Given the description of an element on the screen output the (x, y) to click on. 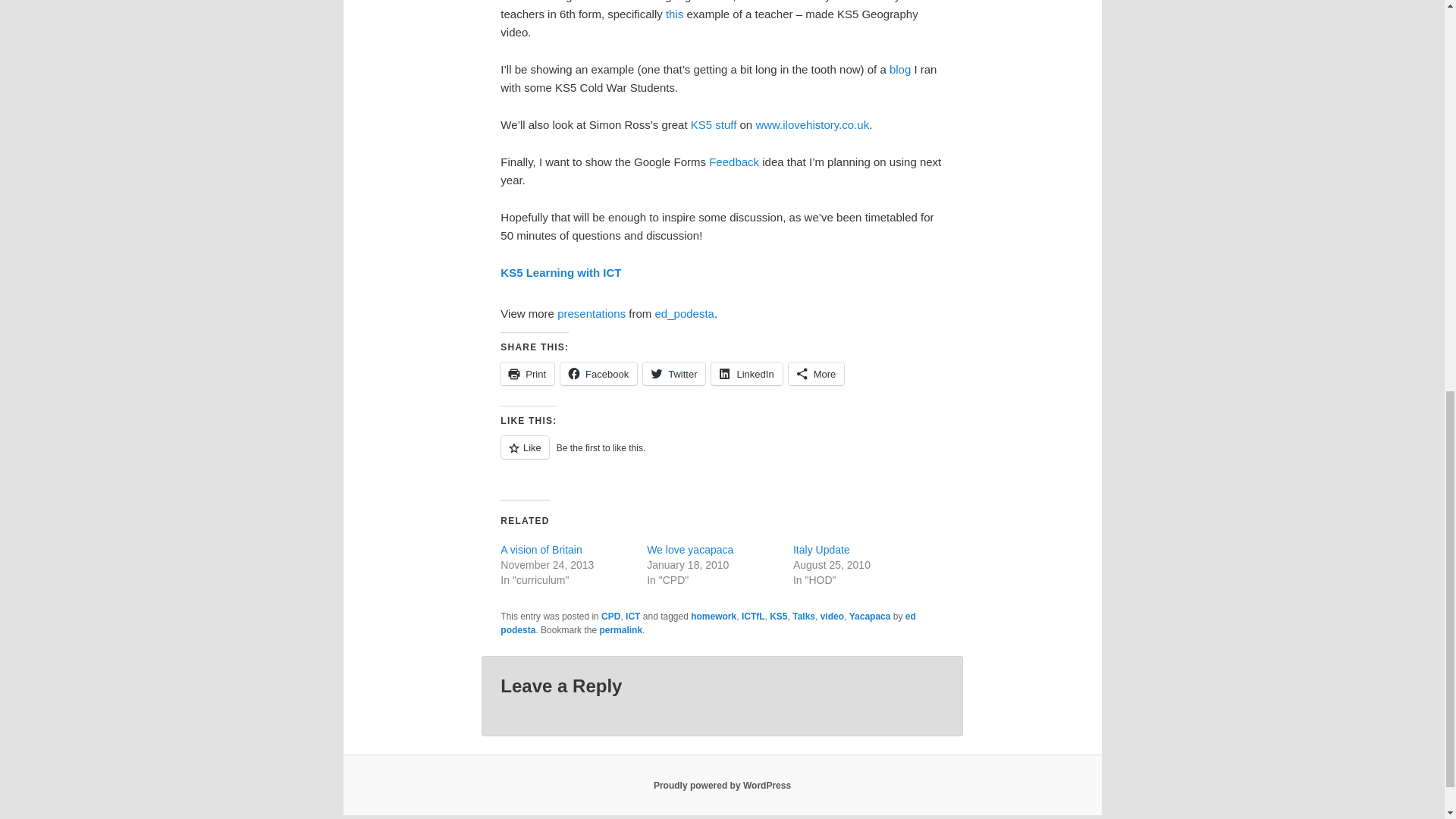
Click to share on Facebook (598, 373)
A vision of Britain (540, 549)
KS5 Learning with ICT (560, 272)
Italy Update (821, 549)
Click to share on Twitter (673, 373)
We love yacapaca (689, 549)
Like or Reblog (721, 455)
Click to print (527, 373)
Click to share on LinkedIn (746, 373)
